Given the description of an element on the screen output the (x, y) to click on. 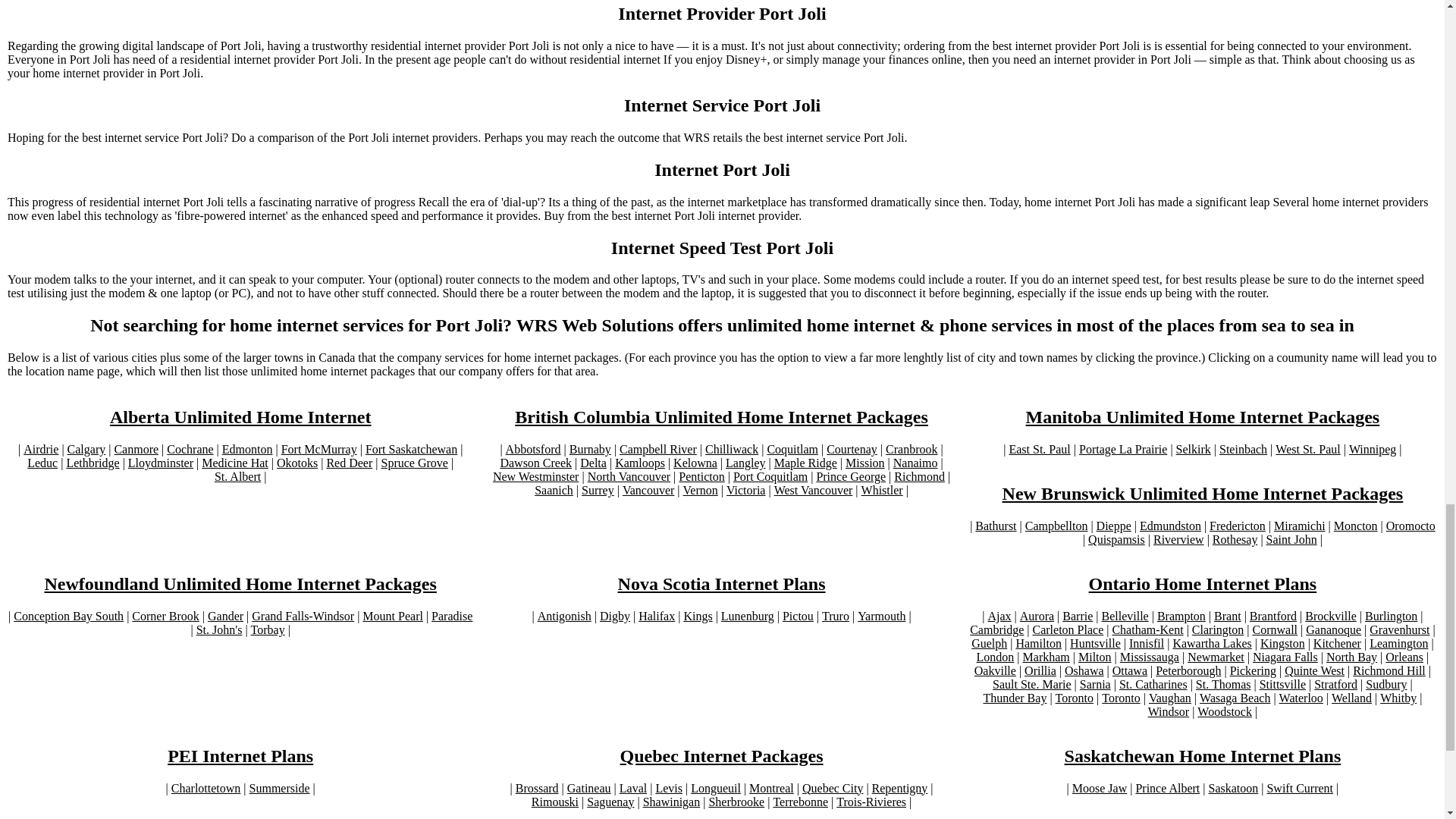
Fort Saskatchewan (411, 449)
Okotoks (296, 463)
British Columbia Unlimited Home Internet Packages (721, 417)
Red Deer (349, 463)
Fort McMurray (318, 449)
Canmore (135, 449)
Lloydminster (160, 463)
Medicine Hat (234, 463)
Leduc (42, 463)
Lethbridge (92, 463)
